Given the description of an element on the screen output the (x, y) to click on. 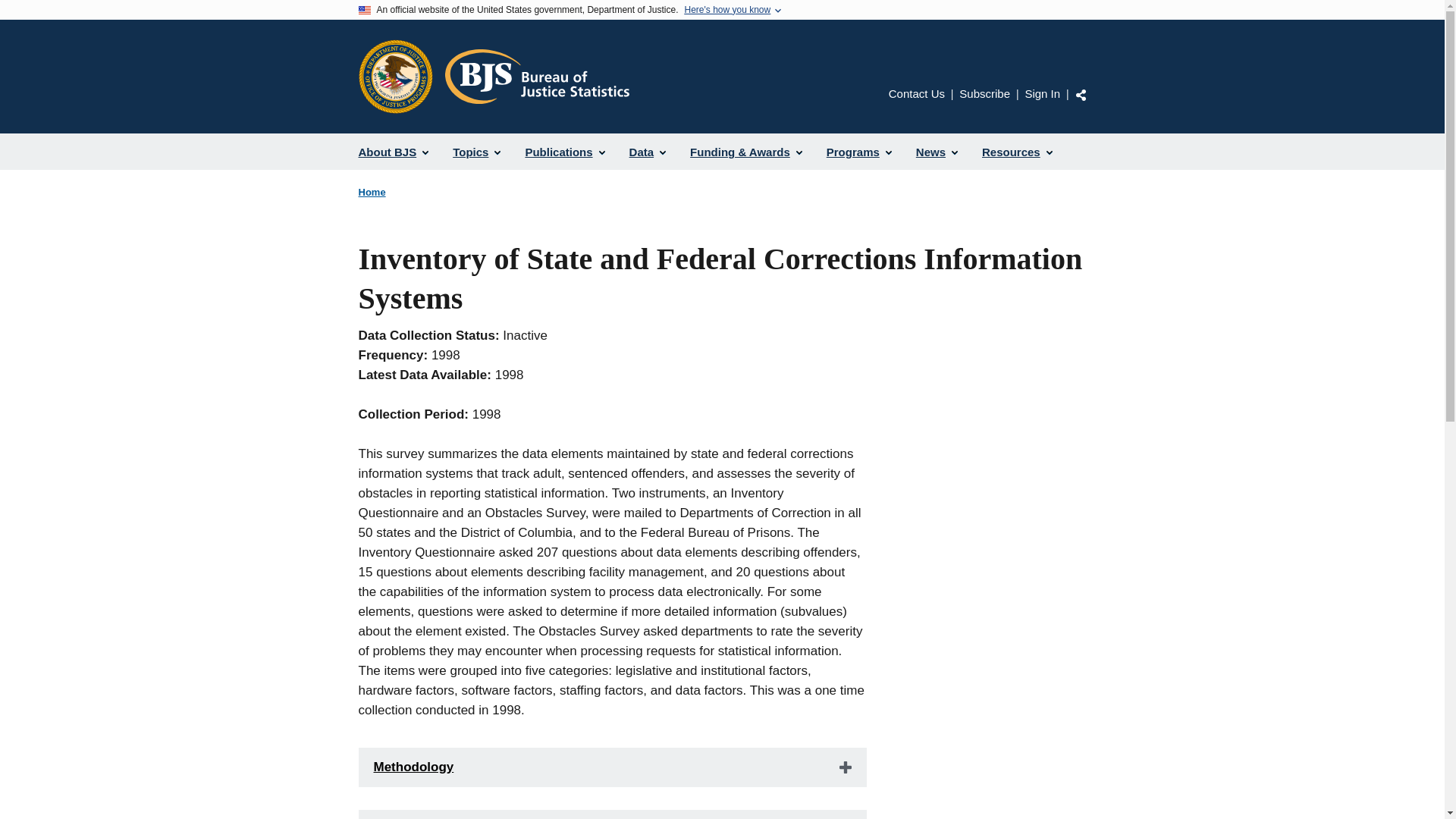
About BJS (393, 151)
Office of Justice Programs (395, 76)
Sign In (1042, 93)
Contact Us (916, 93)
Questionnaires (612, 814)
Home (371, 192)
Choose a social sharing platform (1080, 94)
Publications (563, 151)
Home (536, 76)
Share (1080, 94)
